Given the description of an element on the screen output the (x, y) to click on. 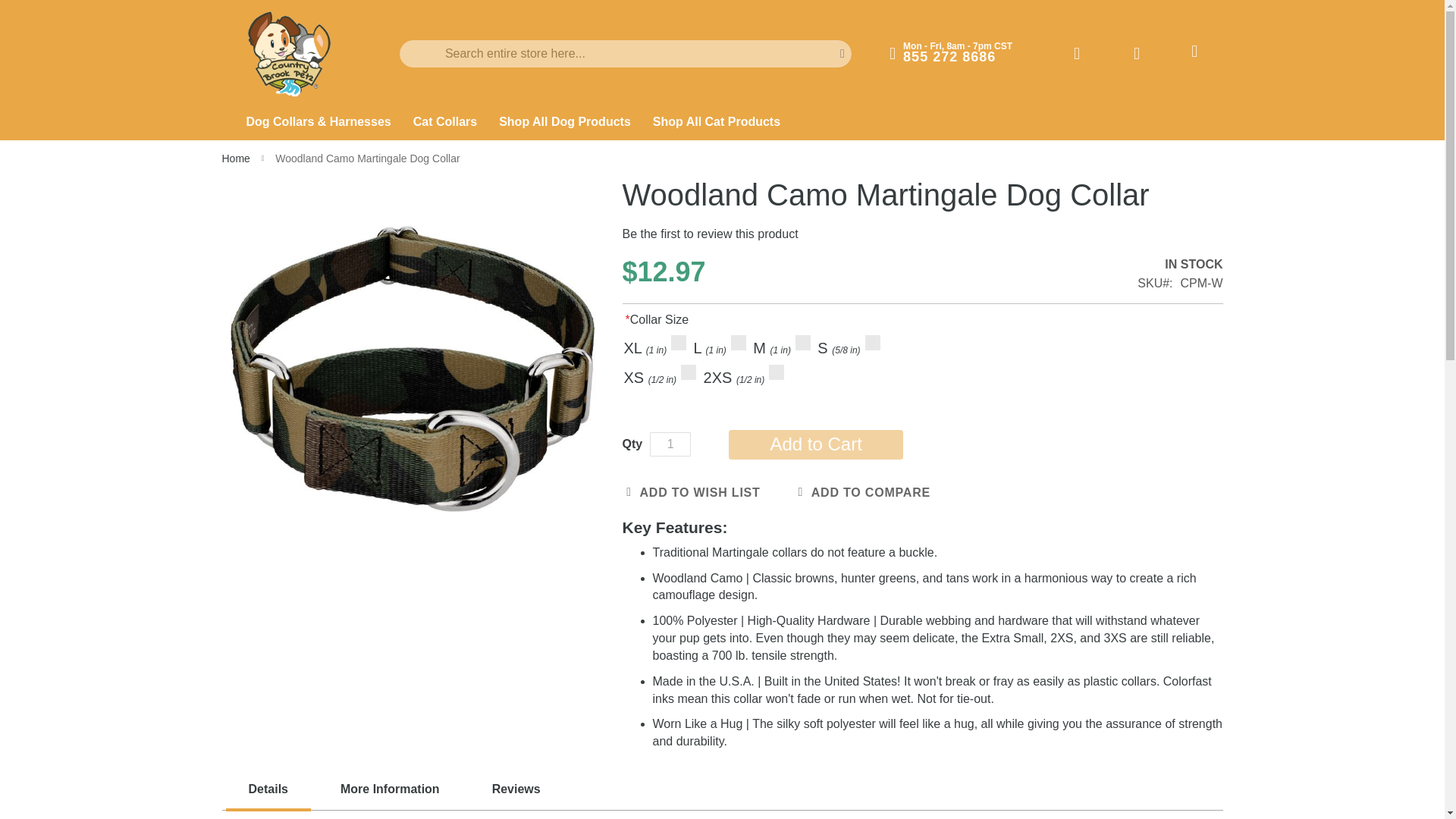
Country Brook Petz Logo (289, 54)
XL,23,31,1 (676, 343)
1 (669, 444)
Availability (1180, 264)
L,18,26,1 (736, 343)
855 272 8686 (948, 56)
M,15,21,1 (801, 343)
Go to Home Page (236, 158)
